Given the description of an element on the screen output the (x, y) to click on. 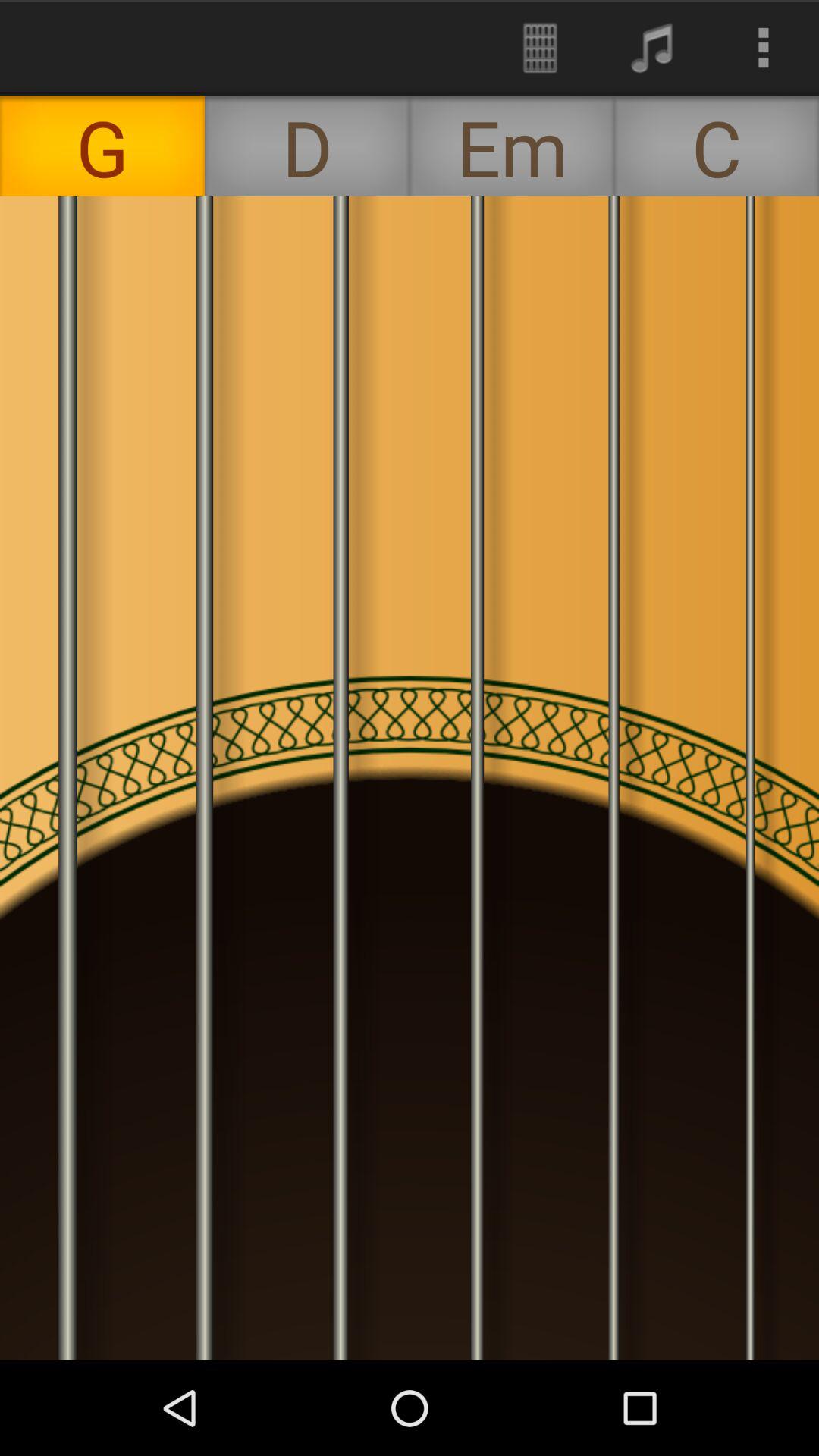
press the em (511, 145)
